Given the description of an element on the screen output the (x, y) to click on. 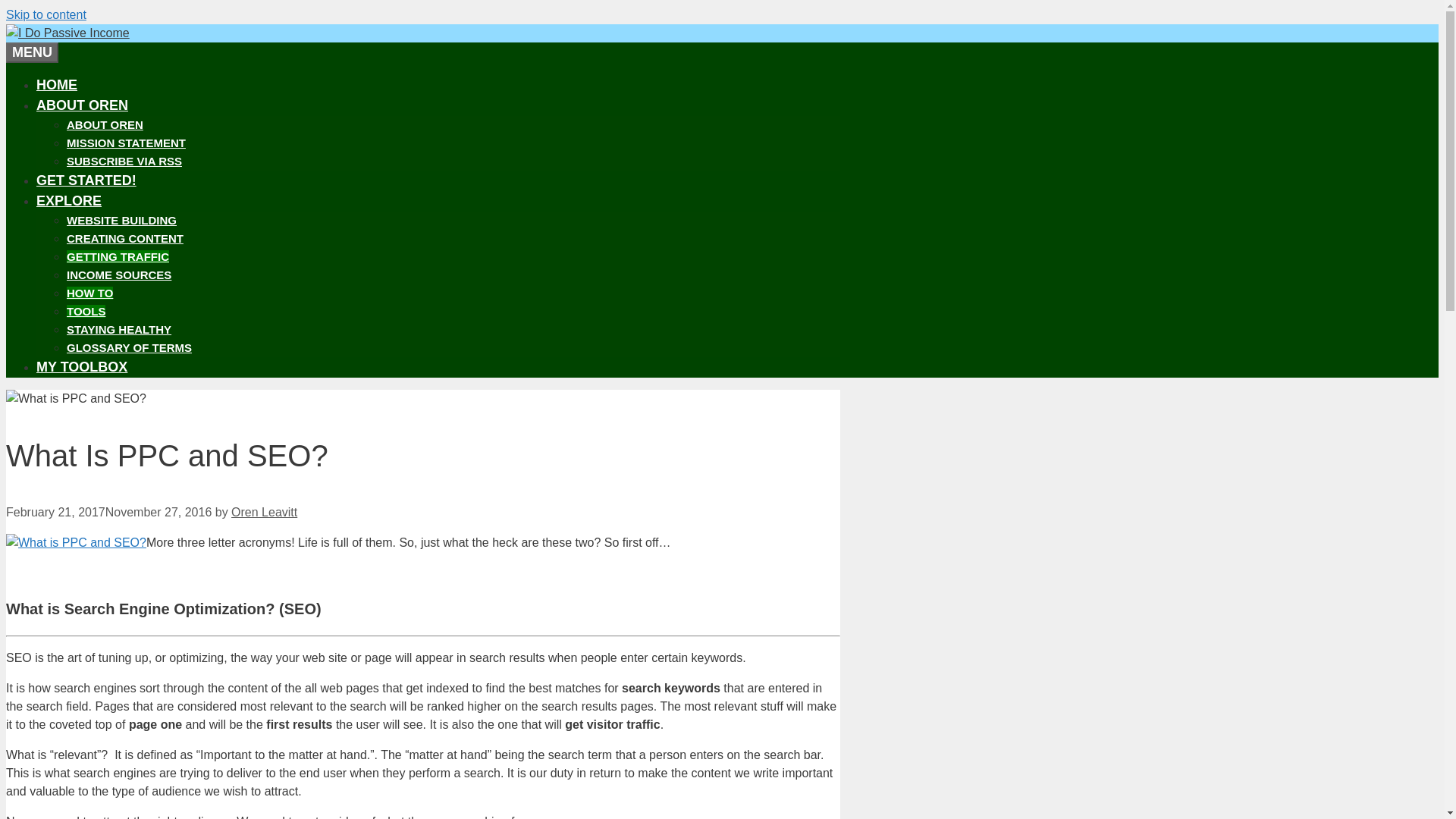
MISSION STATEMENT (126, 142)
MY TOOLBOX (82, 366)
WEBSITE BUILDING (121, 219)
Oren Leavitt (264, 512)
EXPLORE (68, 200)
GET STARTED! (86, 180)
HOW TO (89, 292)
TOOLS (85, 310)
SUBSCRIBE VIA RSS (124, 160)
ABOUT OREN (104, 124)
MENU (31, 52)
View all posts by Oren Leavitt (264, 512)
GETTING TRAFFIC (117, 256)
STAYING HEALTHY (118, 328)
Skip to content (45, 14)
